Given the description of an element on the screen output the (x, y) to click on. 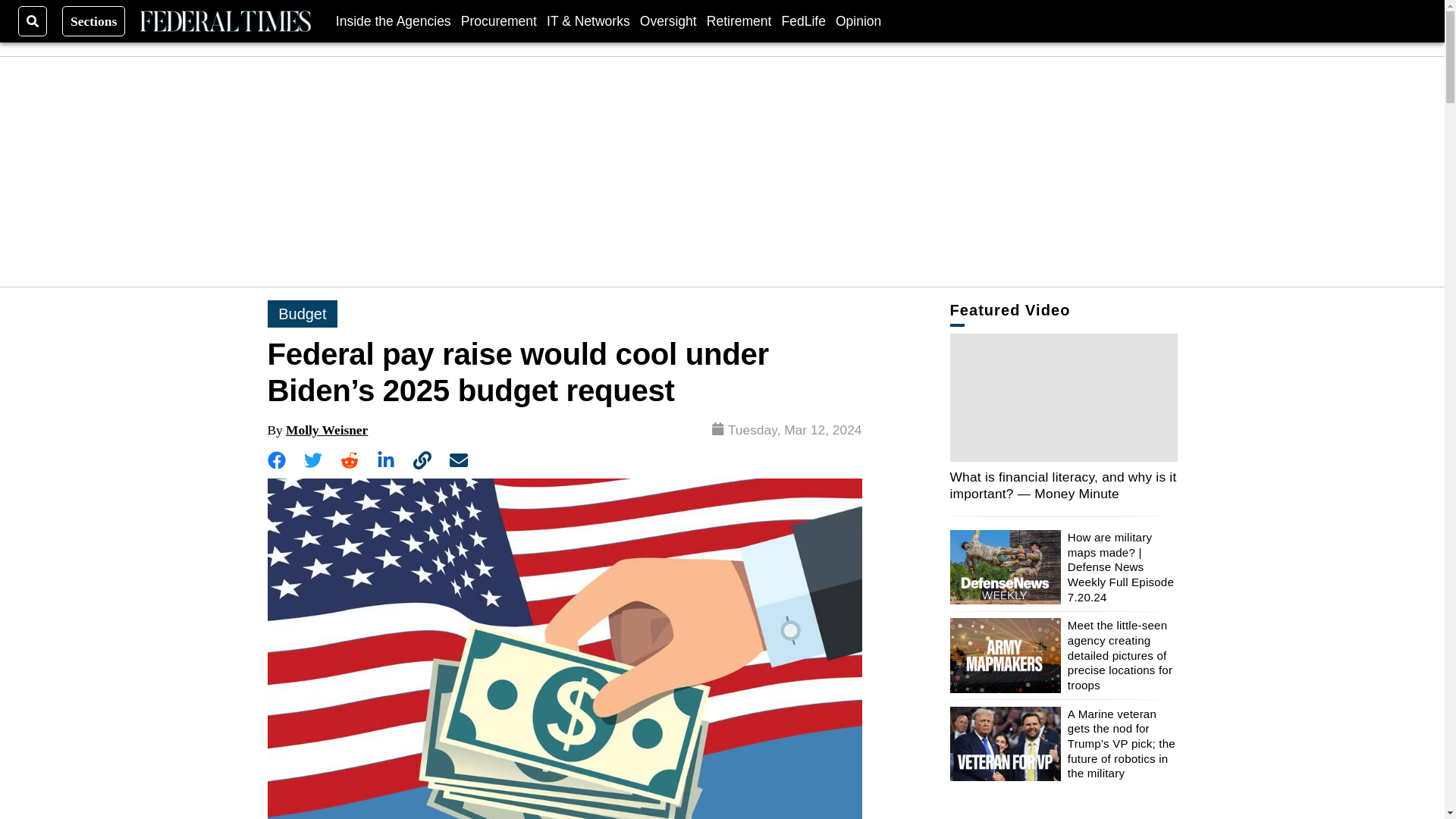
FedLife (802, 20)
Federal Times Logo (224, 20)
Sections (93, 20)
Retirement (738, 20)
Inside the Agencies (393, 20)
Opinion (857, 20)
Oversight (668, 20)
Procurement (499, 20)
